Given the description of an element on the screen output the (x, y) to click on. 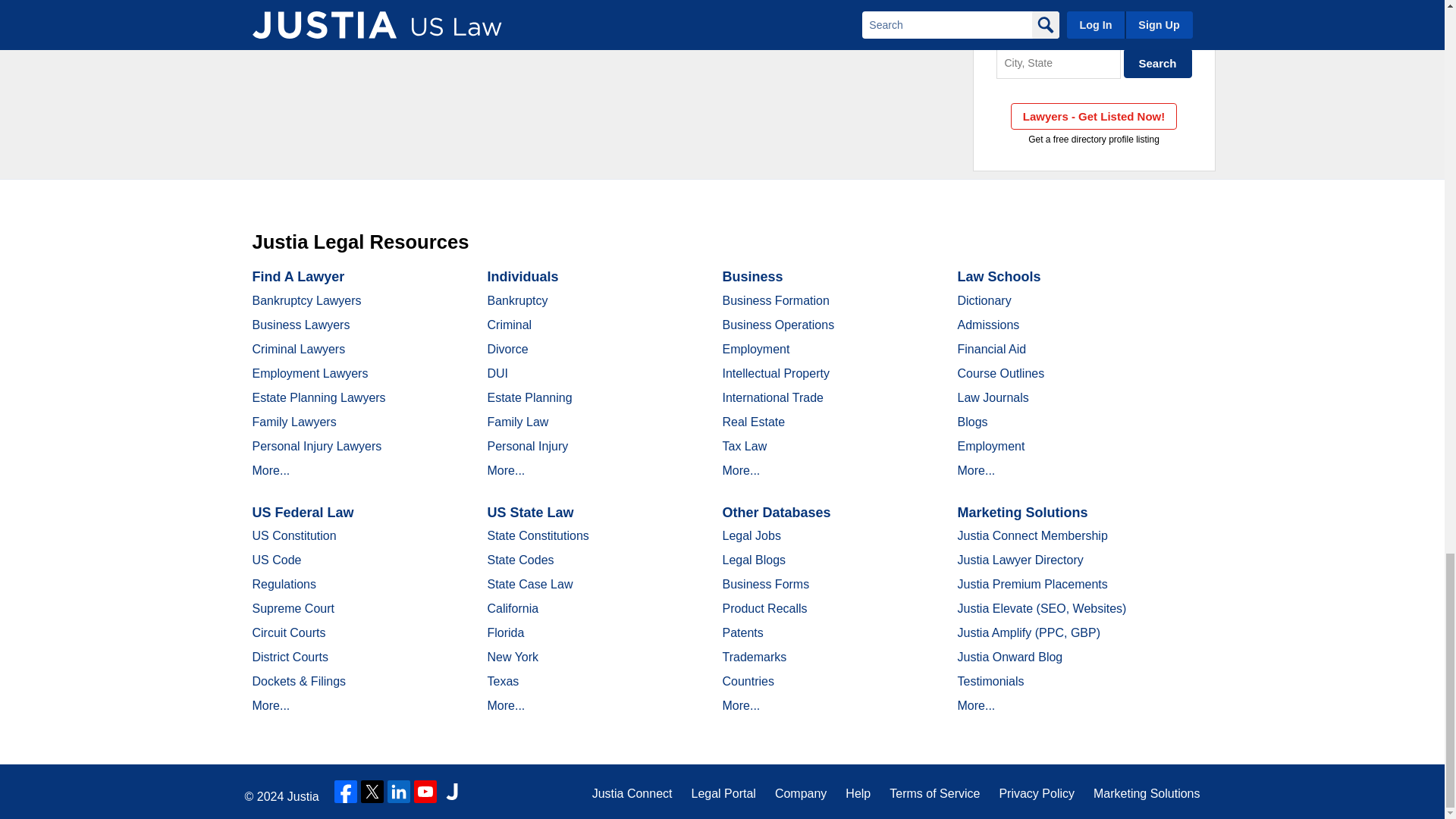
Facebook (345, 791)
LinkedIn (398, 791)
Legal Issue or Lawyer Name (1093, 30)
Search (1158, 62)
Twitter (372, 791)
Search (1158, 62)
City, State (1058, 62)
